Given the description of an element on the screen output the (x, y) to click on. 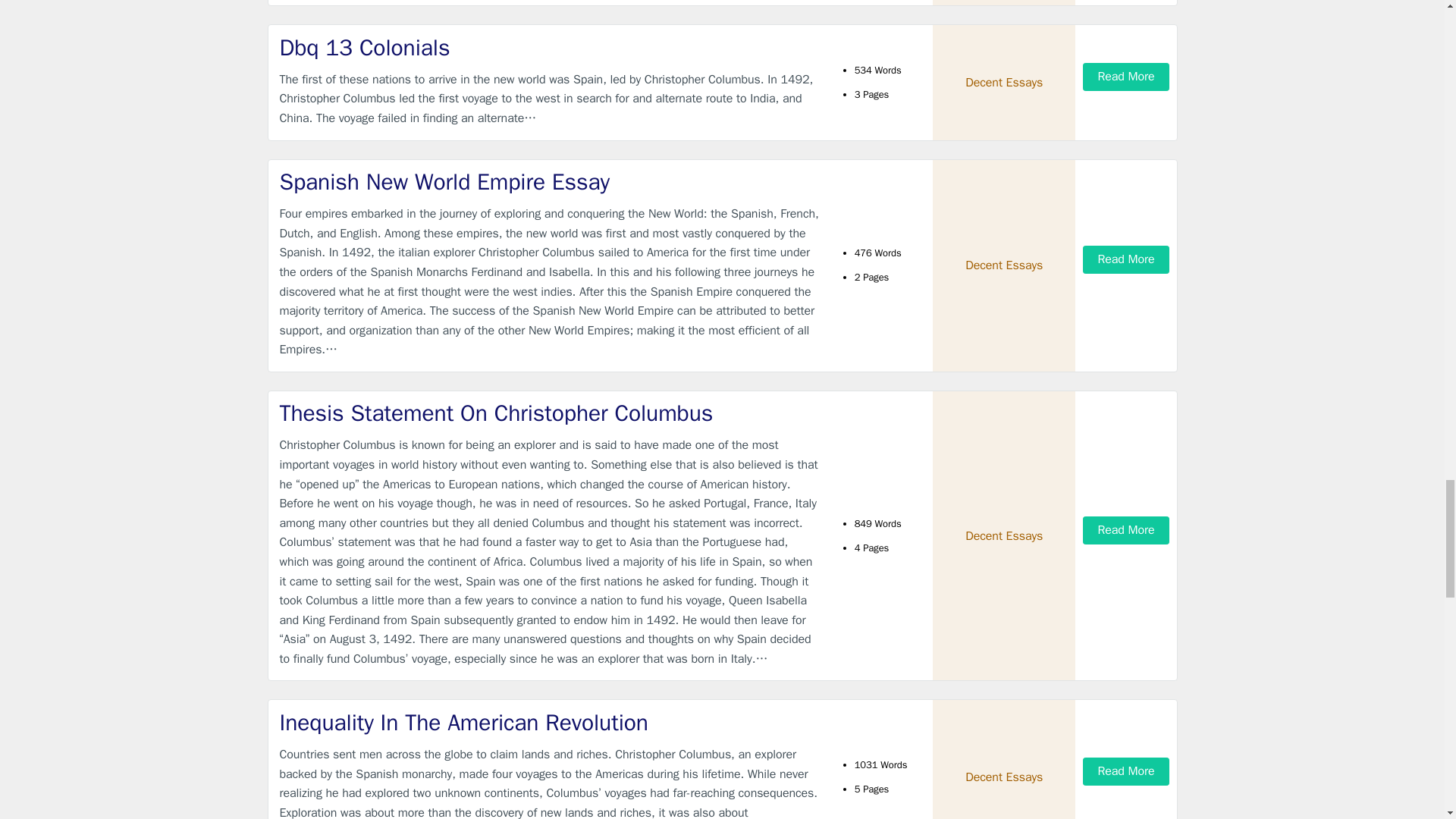
Dbq 13 Colonials (548, 47)
